Given the description of an element on the screen output the (x, y) to click on. 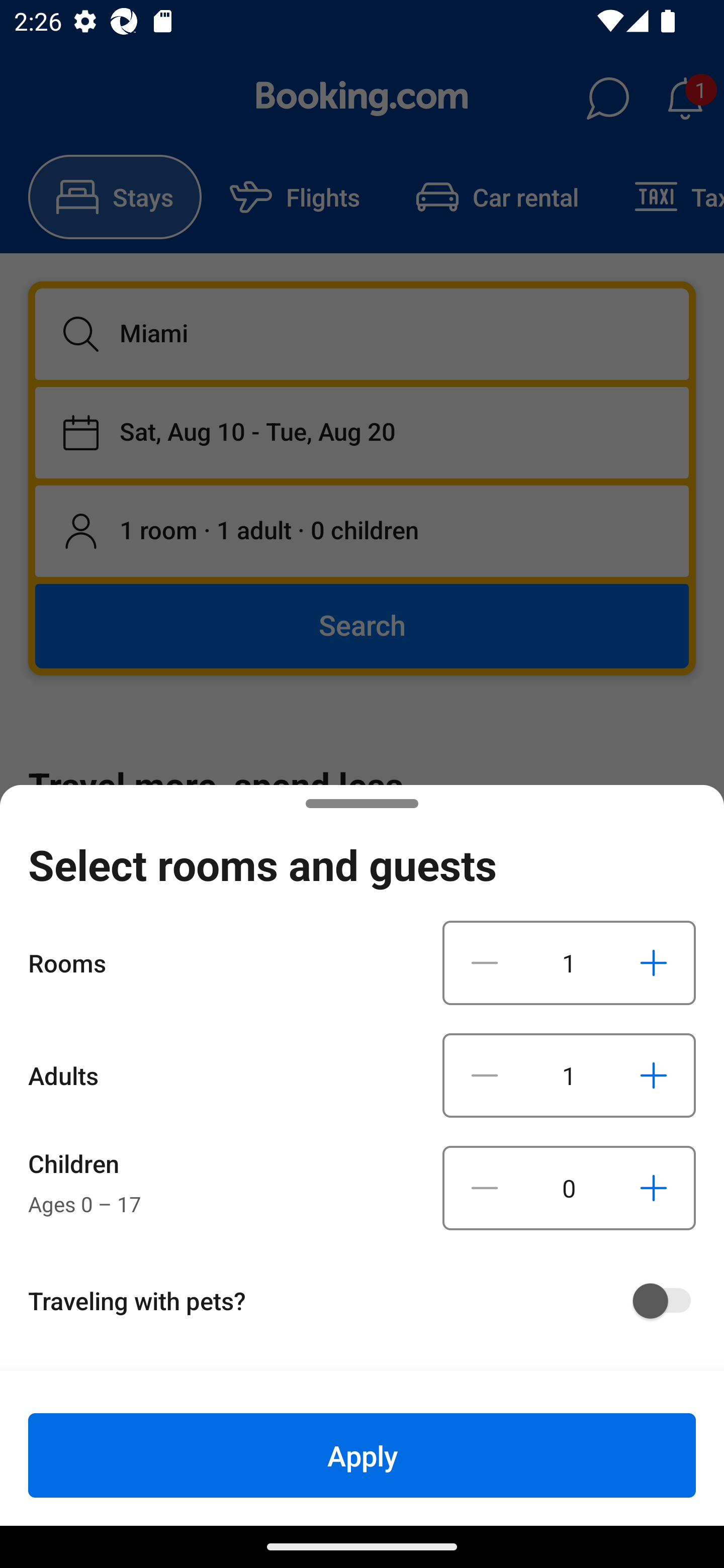
Decrease (484, 962)
Increase (653, 962)
Decrease (484, 1075)
Increase (653, 1075)
Decrease (484, 1188)
Increase (653, 1188)
Traveling with pets? (369, 1300)
Apply (361, 1454)
